Given the description of an element on the screen output the (x, y) to click on. 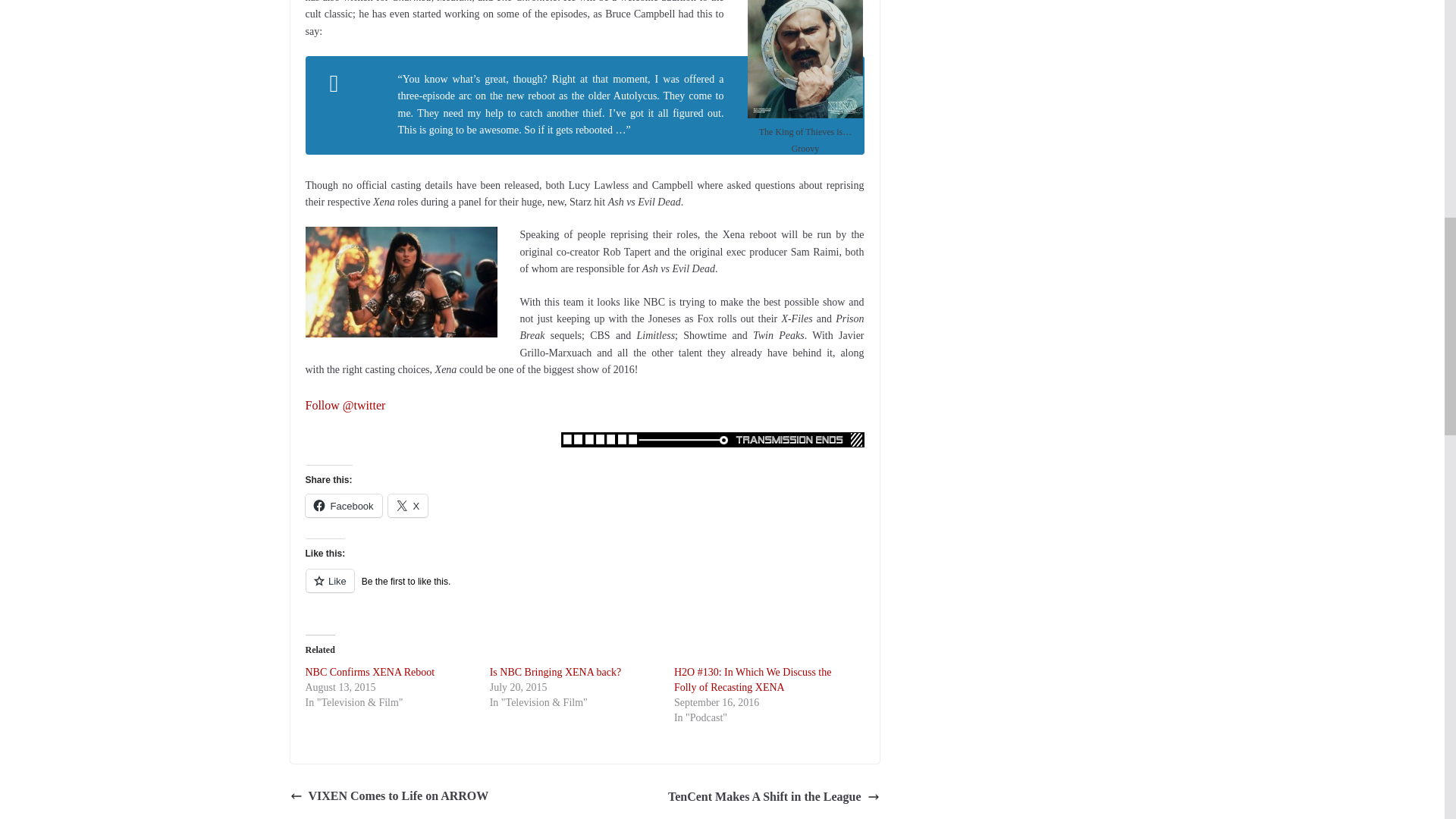
Like or Reblog (583, 589)
Click to share on X (408, 505)
NBC Confirms XENA Reboot (368, 672)
Is NBC Bringing XENA back? (555, 672)
Click to share on Facebook (342, 505)
